Given the description of an element on the screen output the (x, y) to click on. 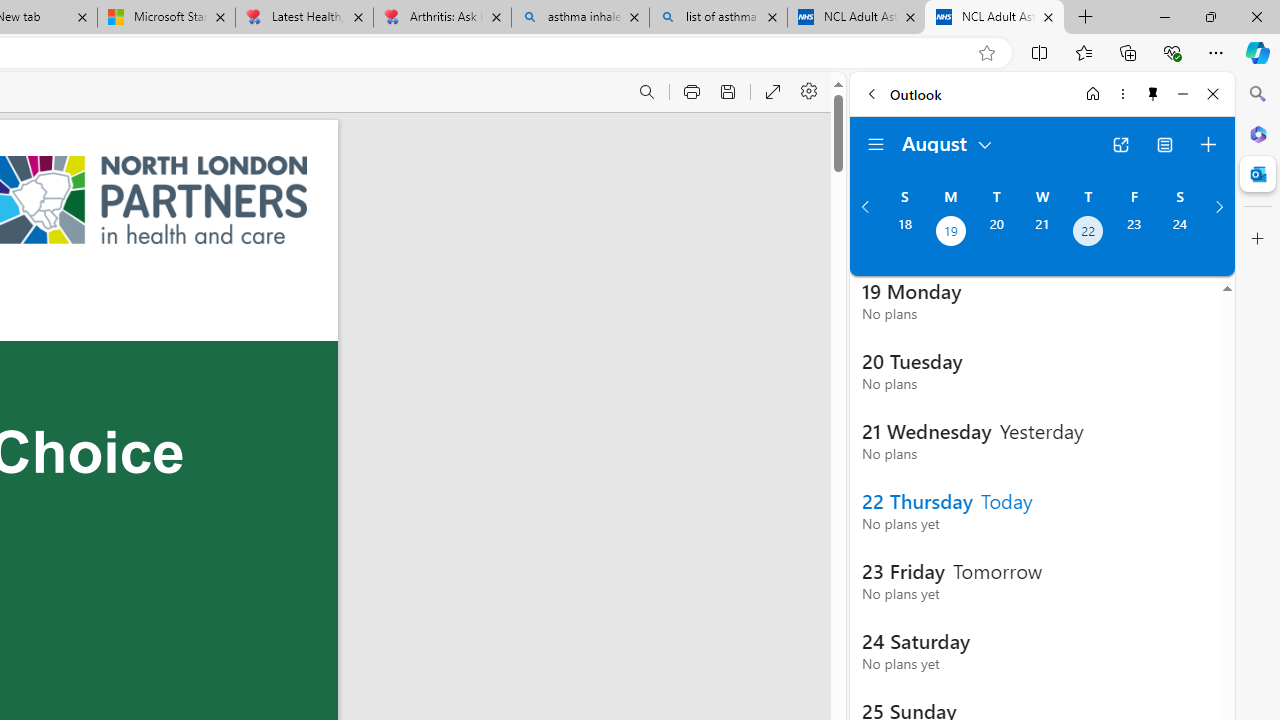
Enter PDF full screen (773, 92)
Find (Ctrl + F) (646, 92)
Thursday, August 22, 2024. Today.  (1088, 233)
Friday, August 23, 2024.  (1134, 233)
Saturday, August 24, 2024.  (1180, 233)
Open in new tab (1120, 144)
